Given the description of an element on the screen output the (x, y) to click on. 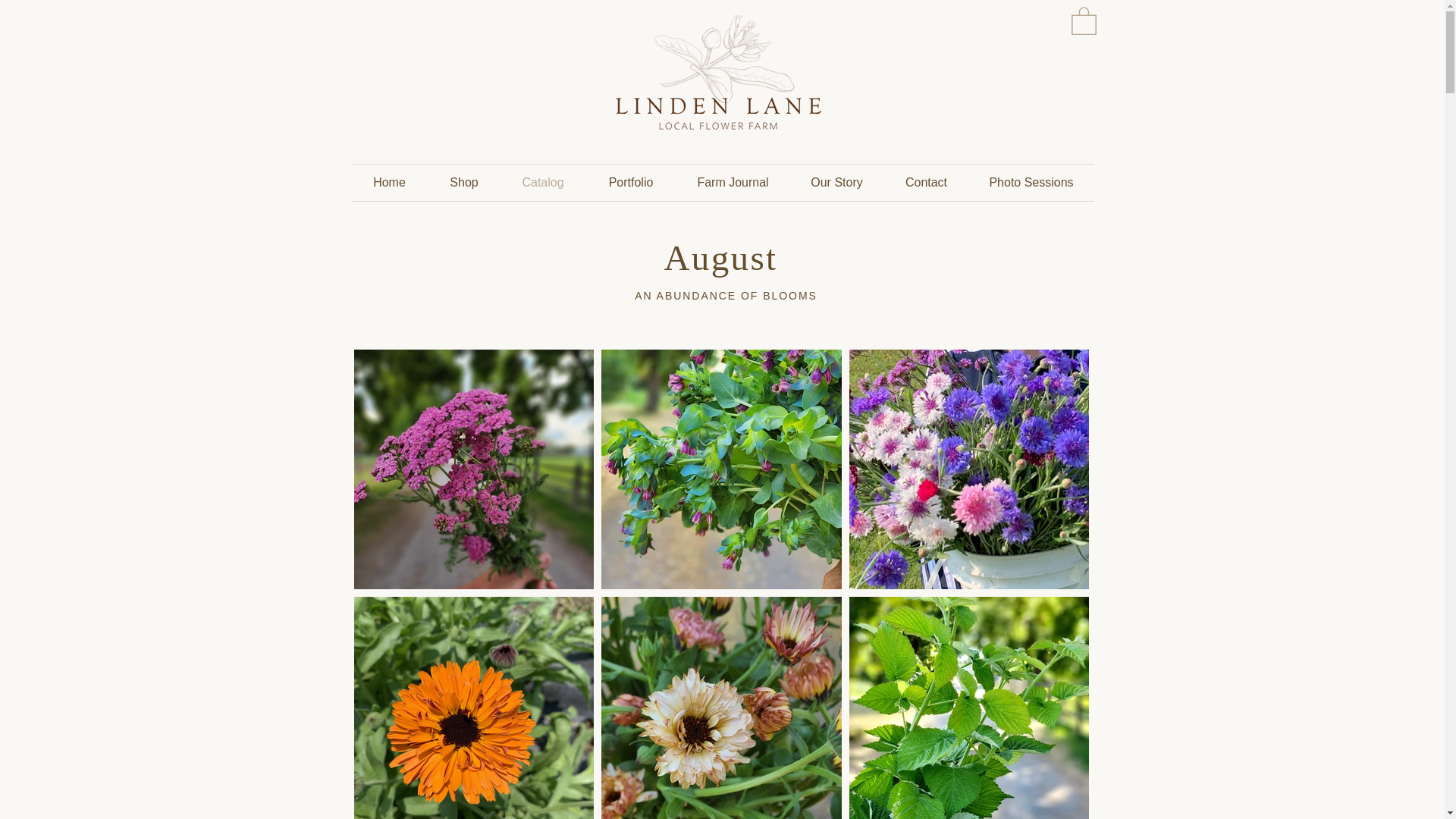
Photo Sessions (1031, 182)
Catalog (543, 182)
Portfolio (630, 182)
Farm Journal (733, 182)
Contact (926, 182)
Shop (463, 182)
Home (389, 182)
Our Story (836, 182)
